Given the description of an element on the screen output the (x, y) to click on. 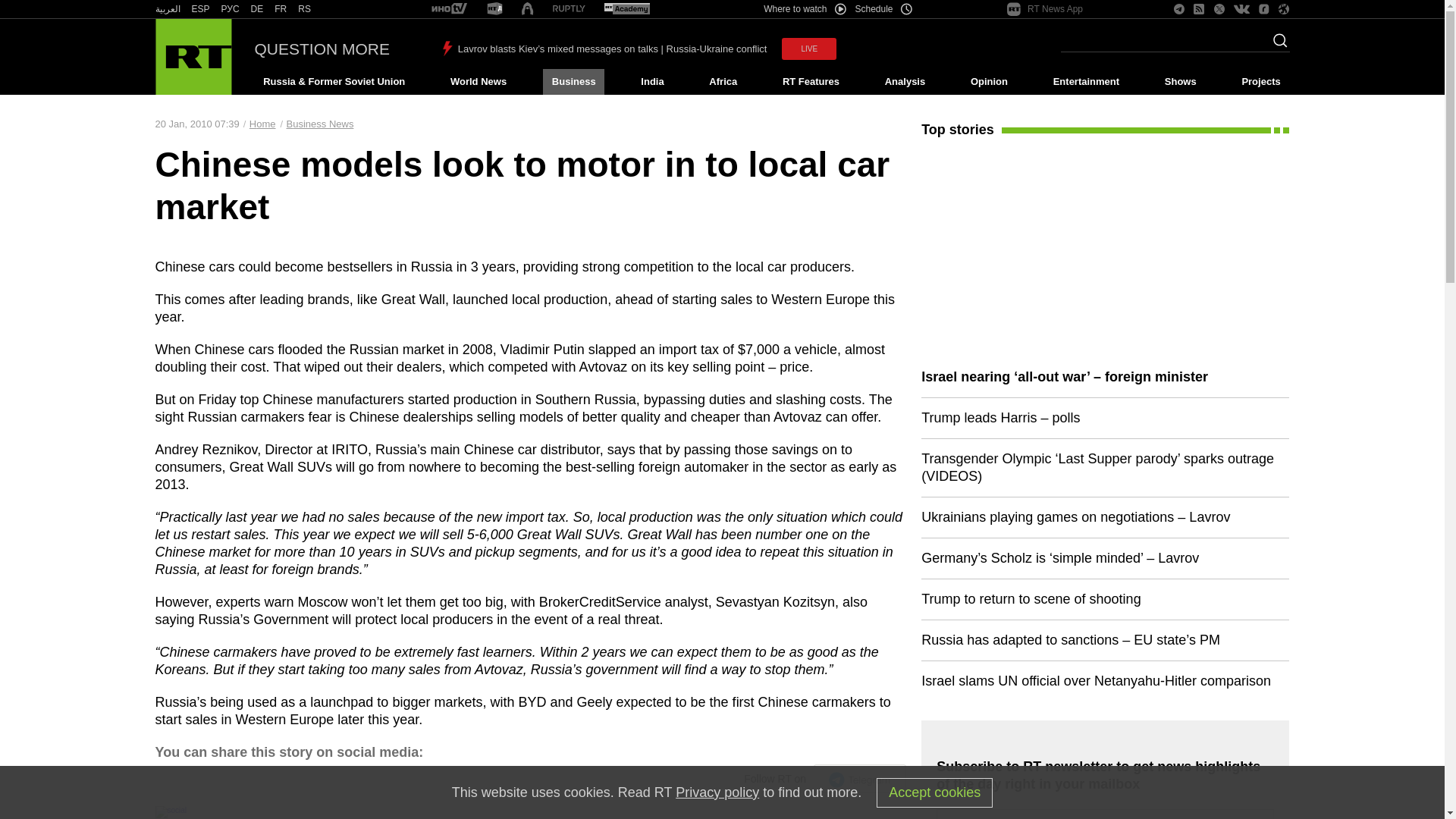
Business (573, 81)
RT  (626, 9)
RT  (526, 9)
Africa (722, 81)
RT  (280, 9)
RT  (494, 9)
Entertainment (1085, 81)
RT Features (810, 81)
DE (256, 9)
LIVE (808, 48)
RT  (230, 9)
RT  (199, 9)
FR (280, 9)
QUESTION MORE (322, 48)
Where to watch (803, 9)
